Given the description of an element on the screen output the (x, y) to click on. 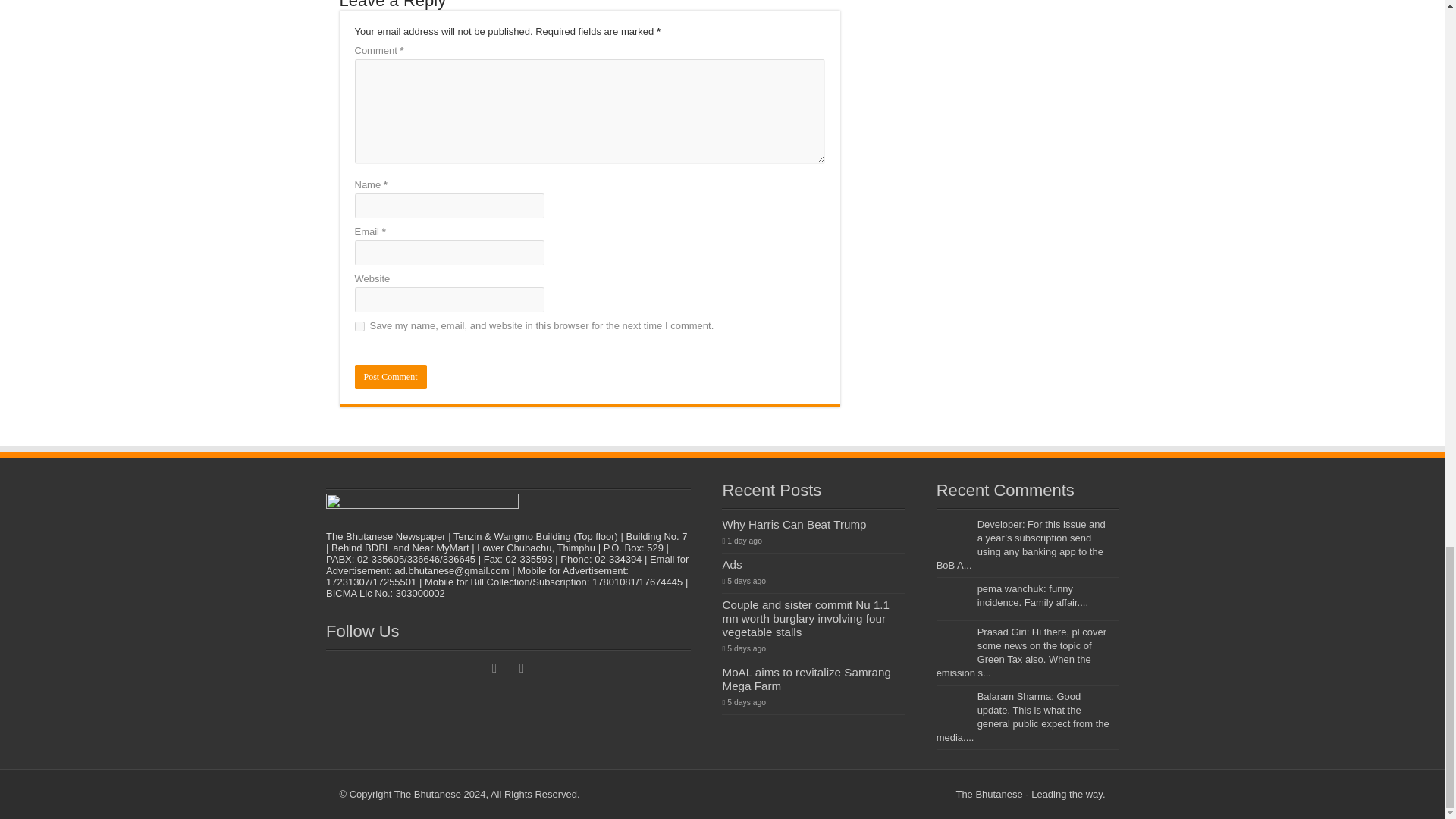
Post Comment (390, 376)
yes (360, 326)
